Given the description of an element on the screen output the (x, y) to click on. 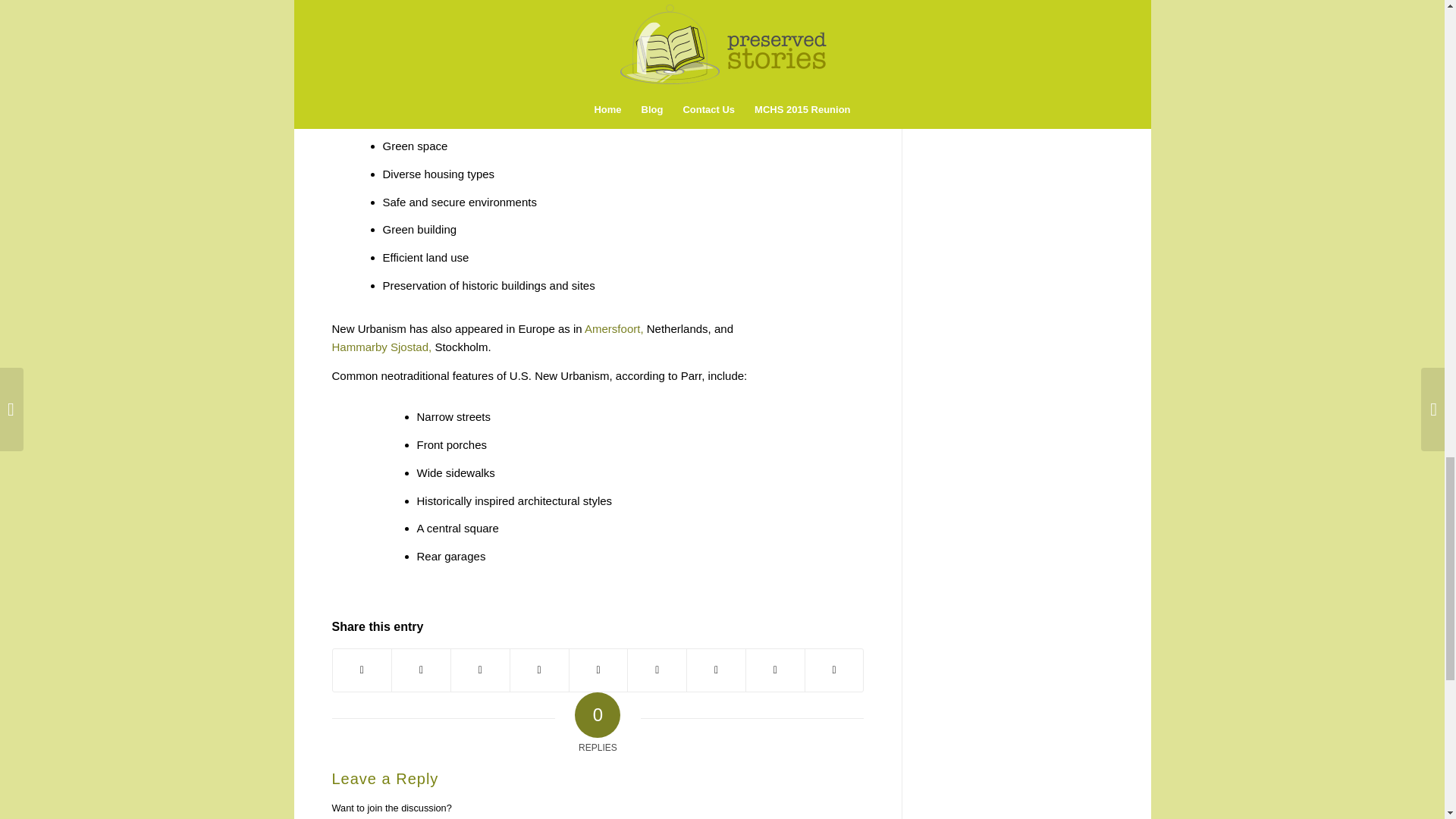
Hammarby Sjostad, (381, 346)
Amersfoort, (614, 327)
